Given the description of an element on the screen output the (x, y) to click on. 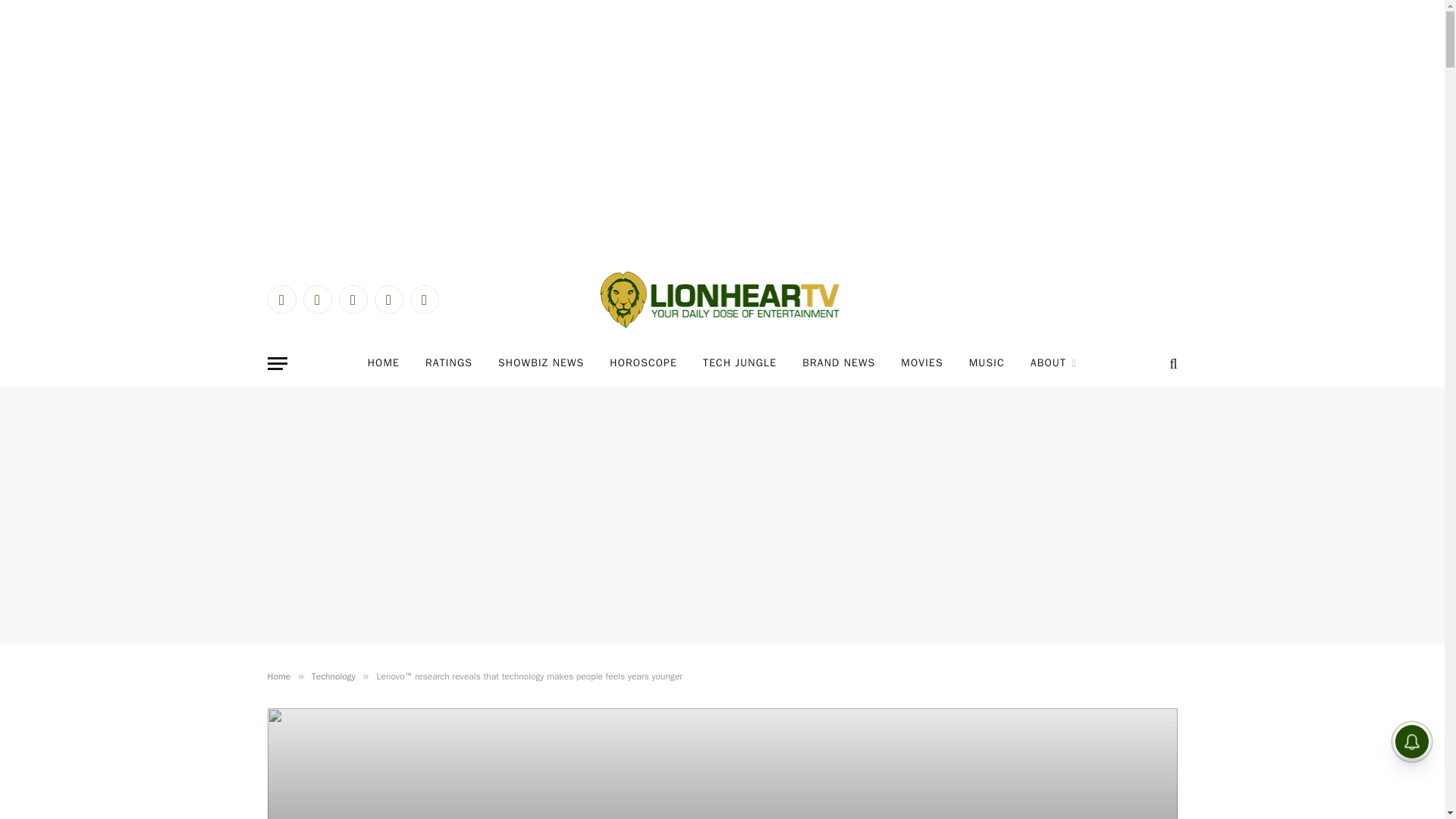
RATINGS (448, 363)
YouTube (388, 299)
LionhearTV (721, 299)
SHOWBIZ NEWS (540, 363)
Advertisement (722, 791)
ABOUT (1053, 363)
Facebook (280, 299)
MUSIC (986, 363)
HOME (383, 363)
HOROSCOPE (643, 363)
TECH JUNGLE (739, 363)
MOVIES (921, 363)
Instagram (351, 299)
